Given the description of an element on the screen output the (x, y) to click on. 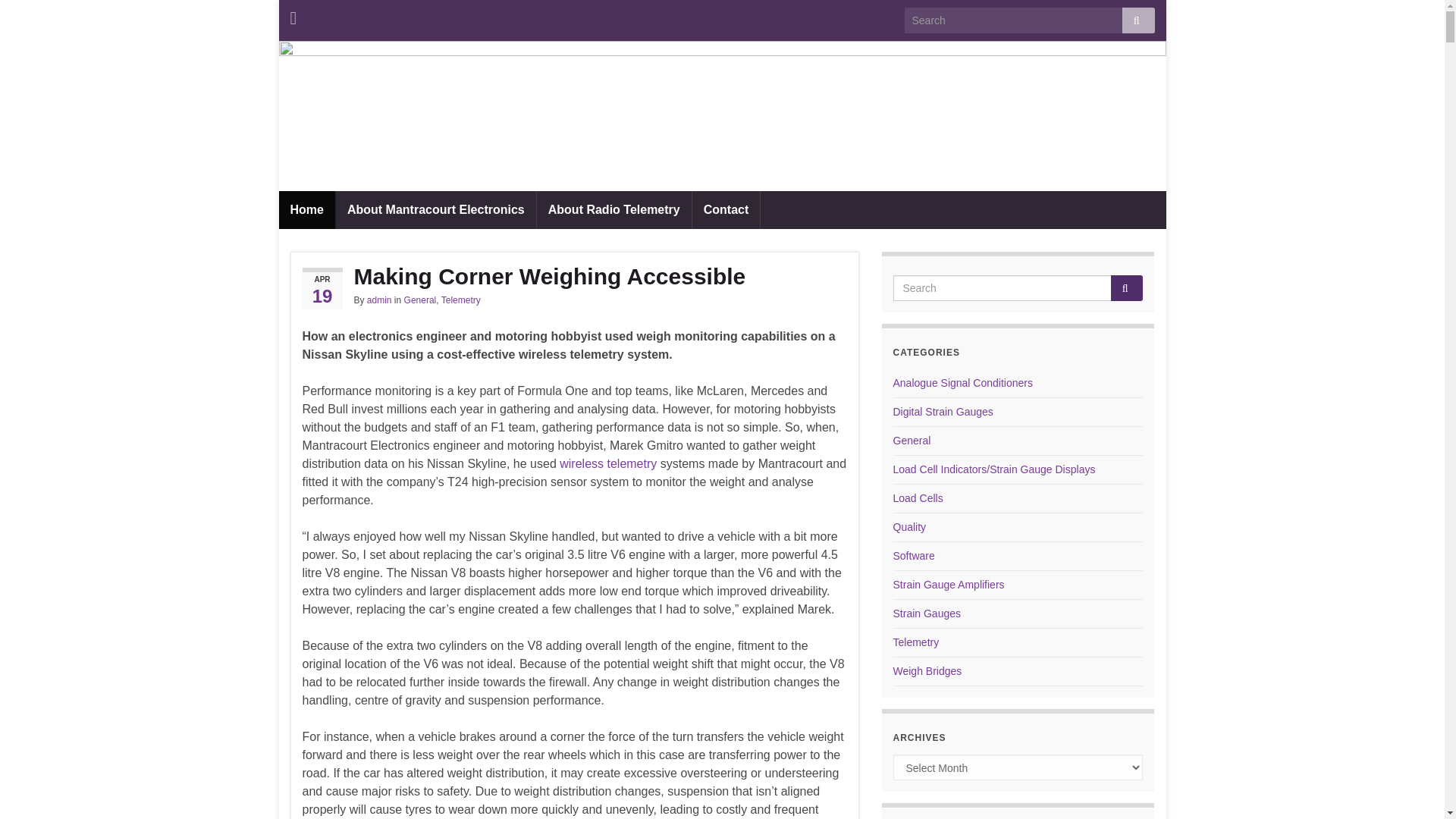
Making Corner Weighing Accessible (573, 276)
Permalink to Making Corner Weighing Accessible (573, 276)
About Mantracourt Electronics (435, 209)
General (420, 299)
admin (378, 299)
Contact (726, 209)
Telemetry (460, 299)
wireless telemetry (607, 463)
Home (306, 209)
About Radio Telemetry (614, 209)
